Given the description of an element on the screen output the (x, y) to click on. 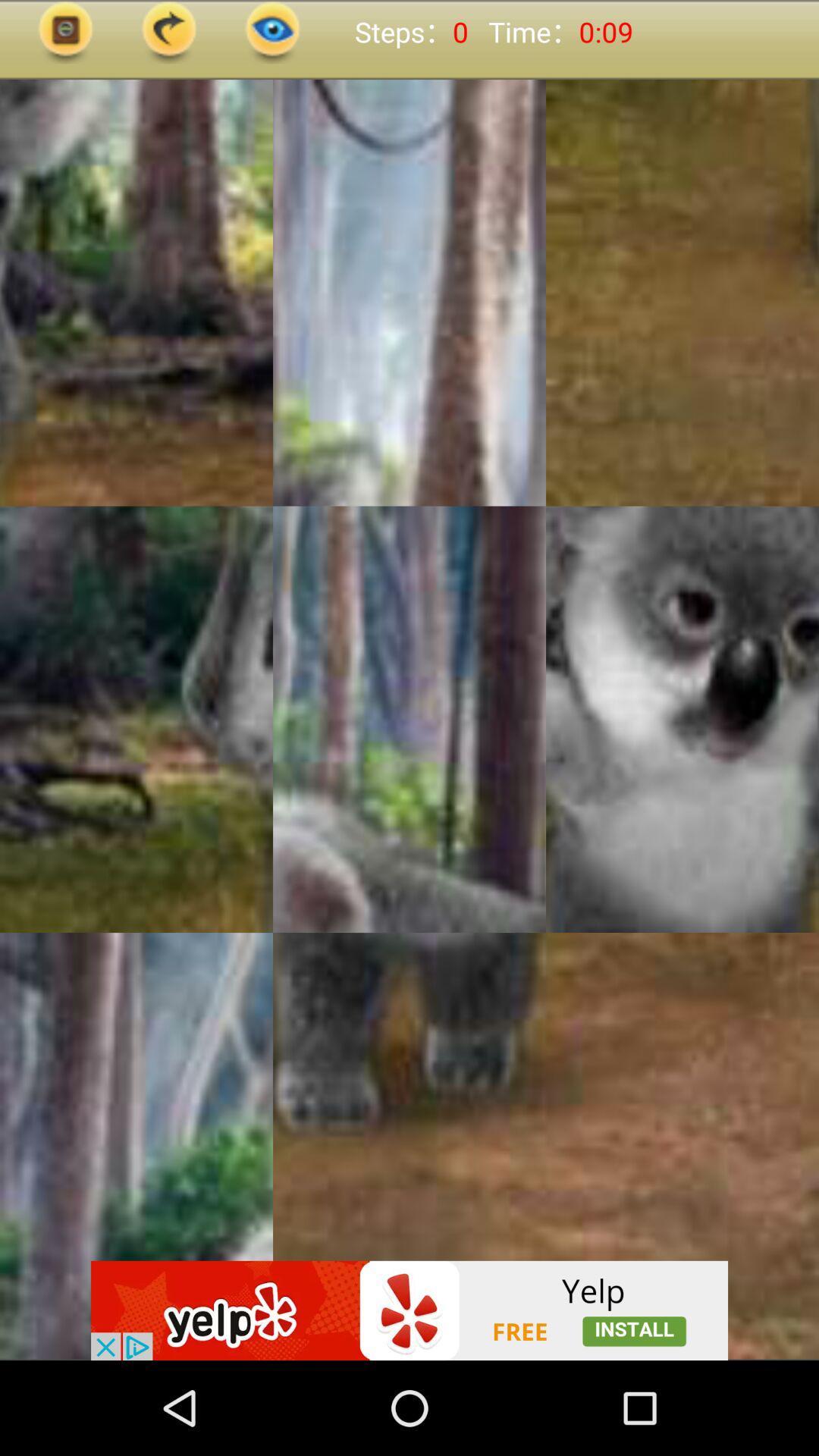
forward this image (169, 31)
